Given the description of an element on the screen output the (x, y) to click on. 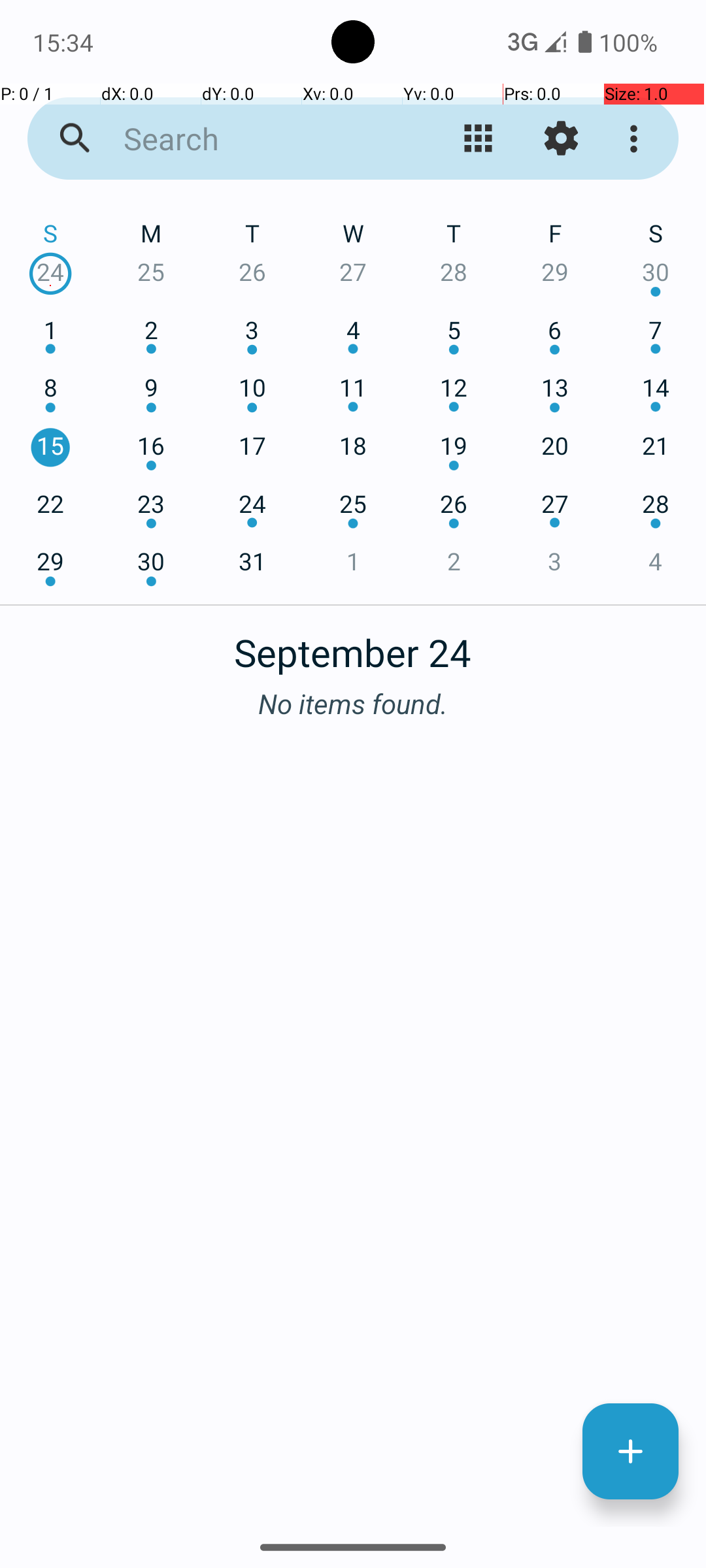
September 24 Element type: android.widget.TextView (352, 644)
